Given the description of an element on the screen output the (x, y) to click on. 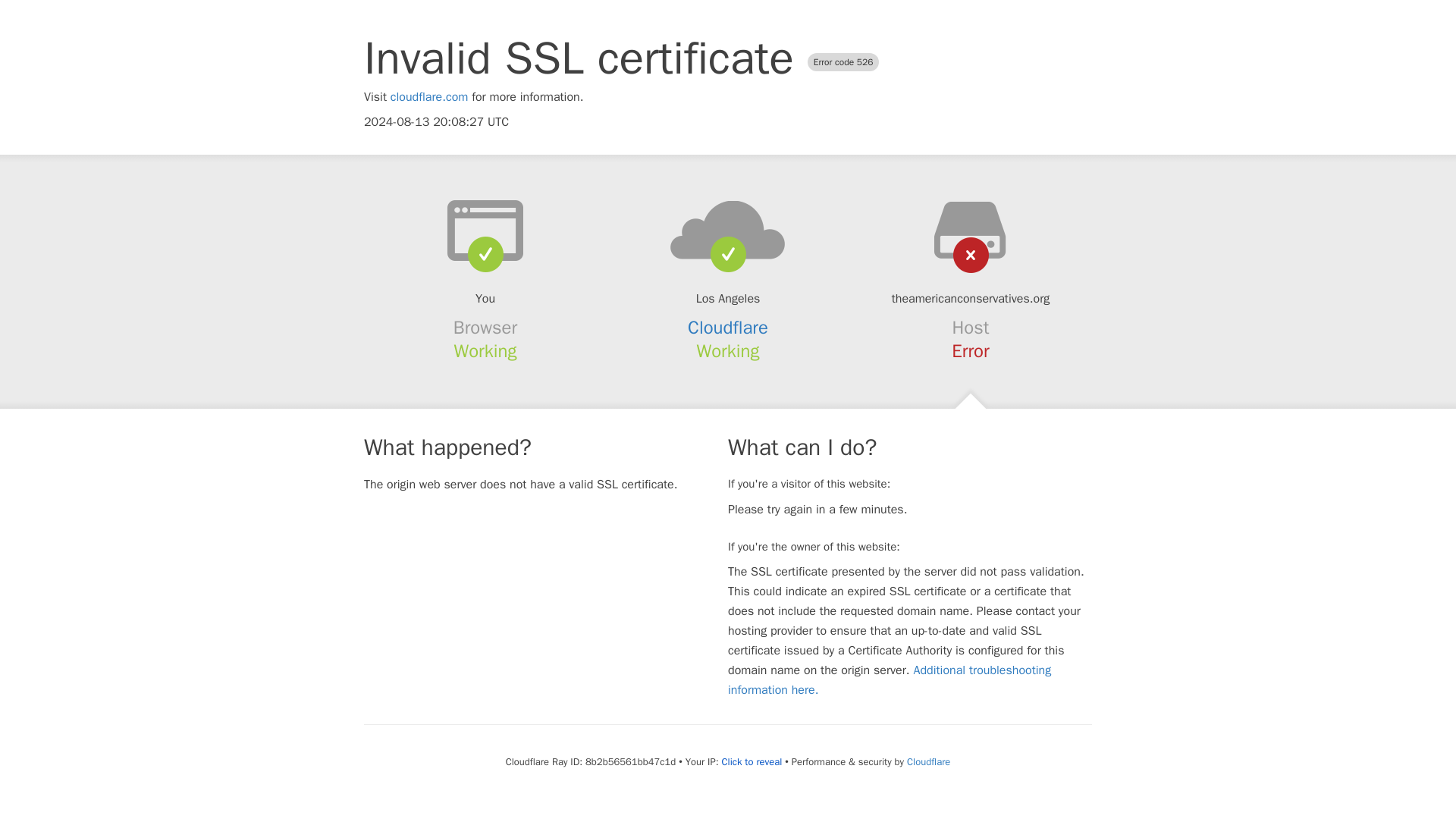
Click to reveal (750, 762)
Additional troubleshooting information here. (889, 679)
cloudflare.com (429, 96)
Cloudflare (727, 327)
Cloudflare (928, 761)
